Given the description of an element on the screen output the (x, y) to click on. 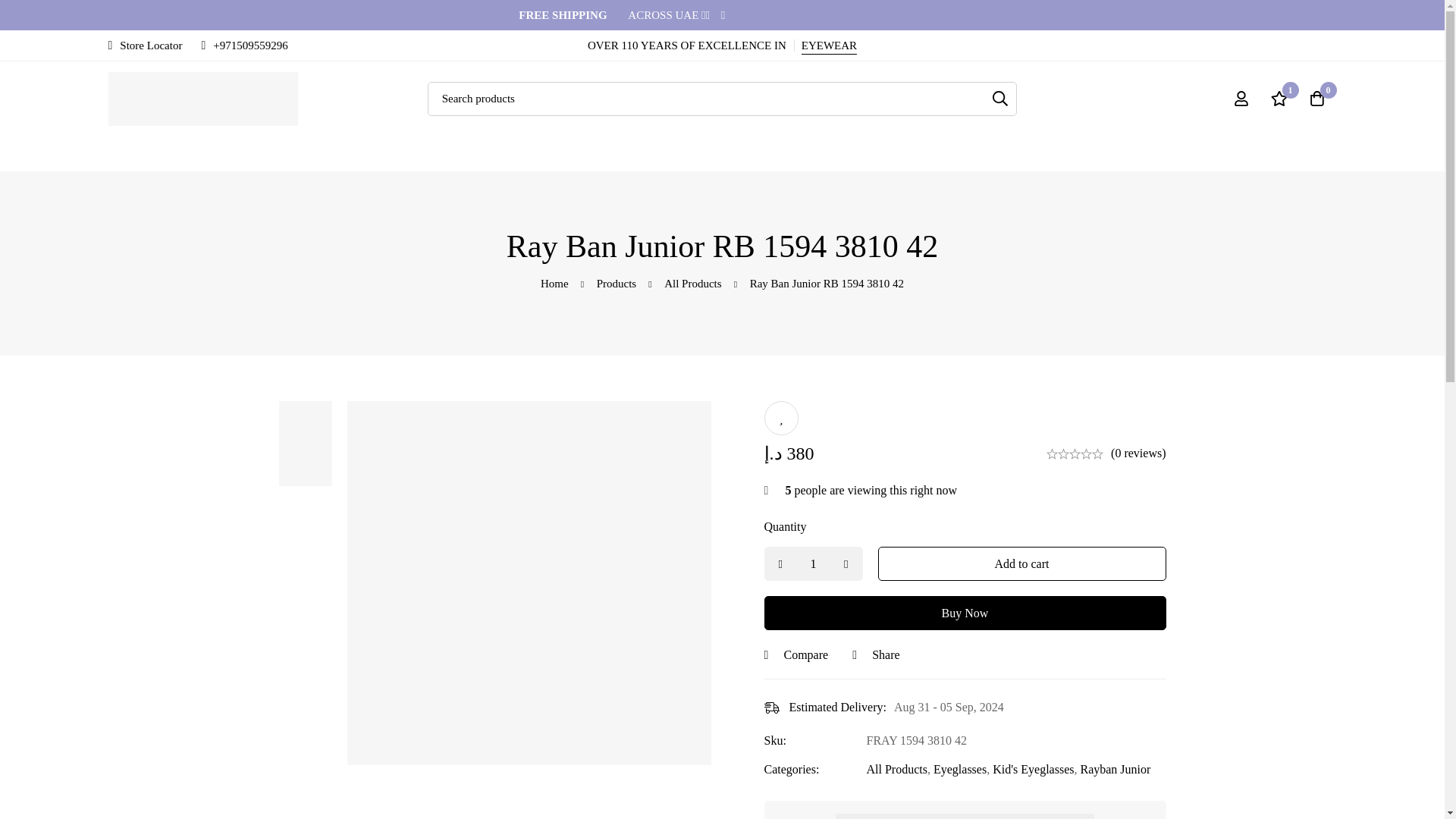
Store Locator (144, 45)
1 (1279, 98)
1 (813, 563)
0 (1317, 98)
Search for: (722, 98)
EYEWEAR (829, 45)
